Given the description of an element on the screen output the (x, y) to click on. 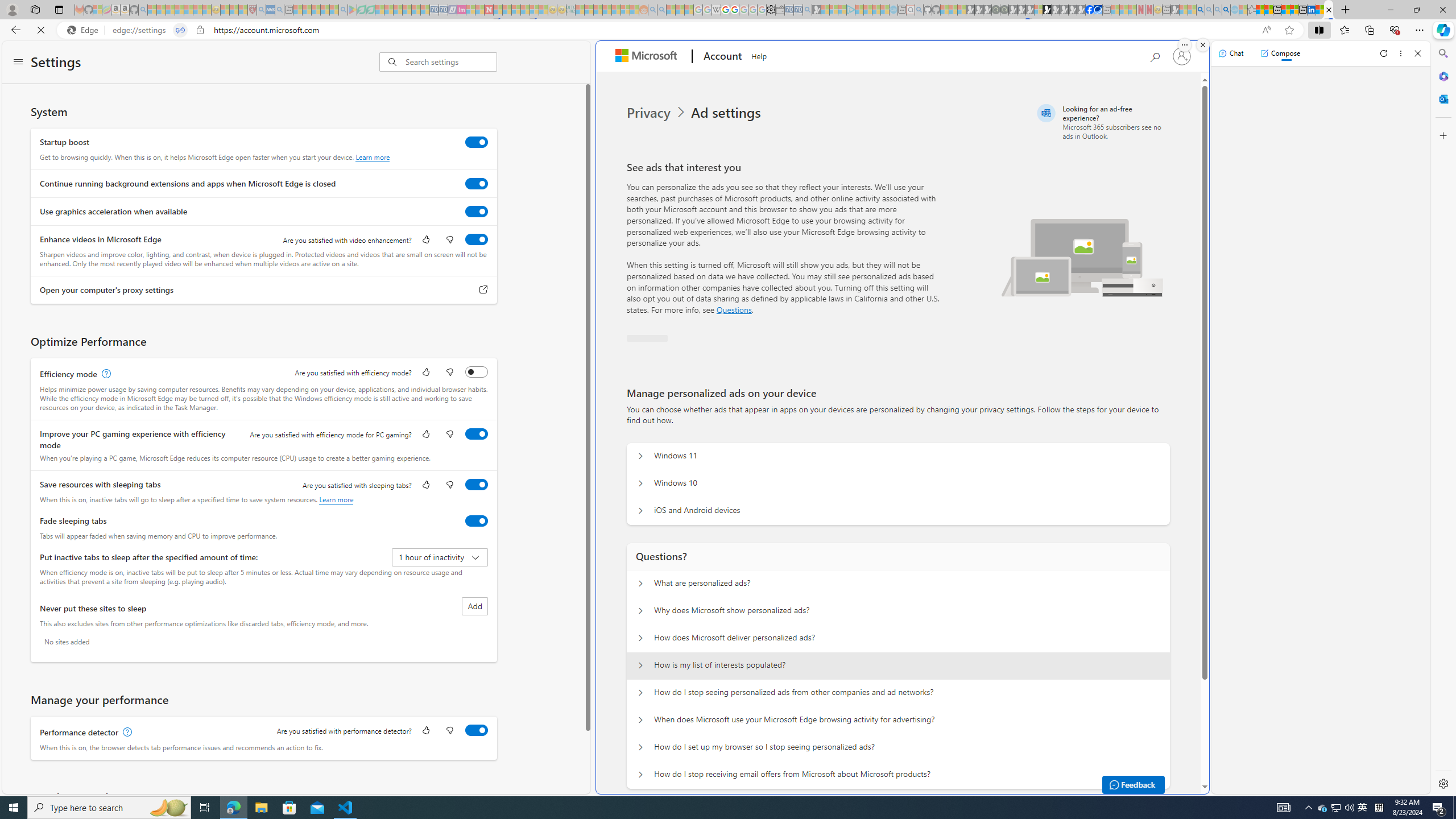
Nordace | Facebook (1089, 9)
Bing Real Estate - Home sales and rental listings - Sleeping (806, 9)
github - Search - Sleeping (919, 9)
14 Common Myths Debunked By Scientific Facts - Sleeping (506, 9)
